Given the description of an element on the screen output the (x, y) to click on. 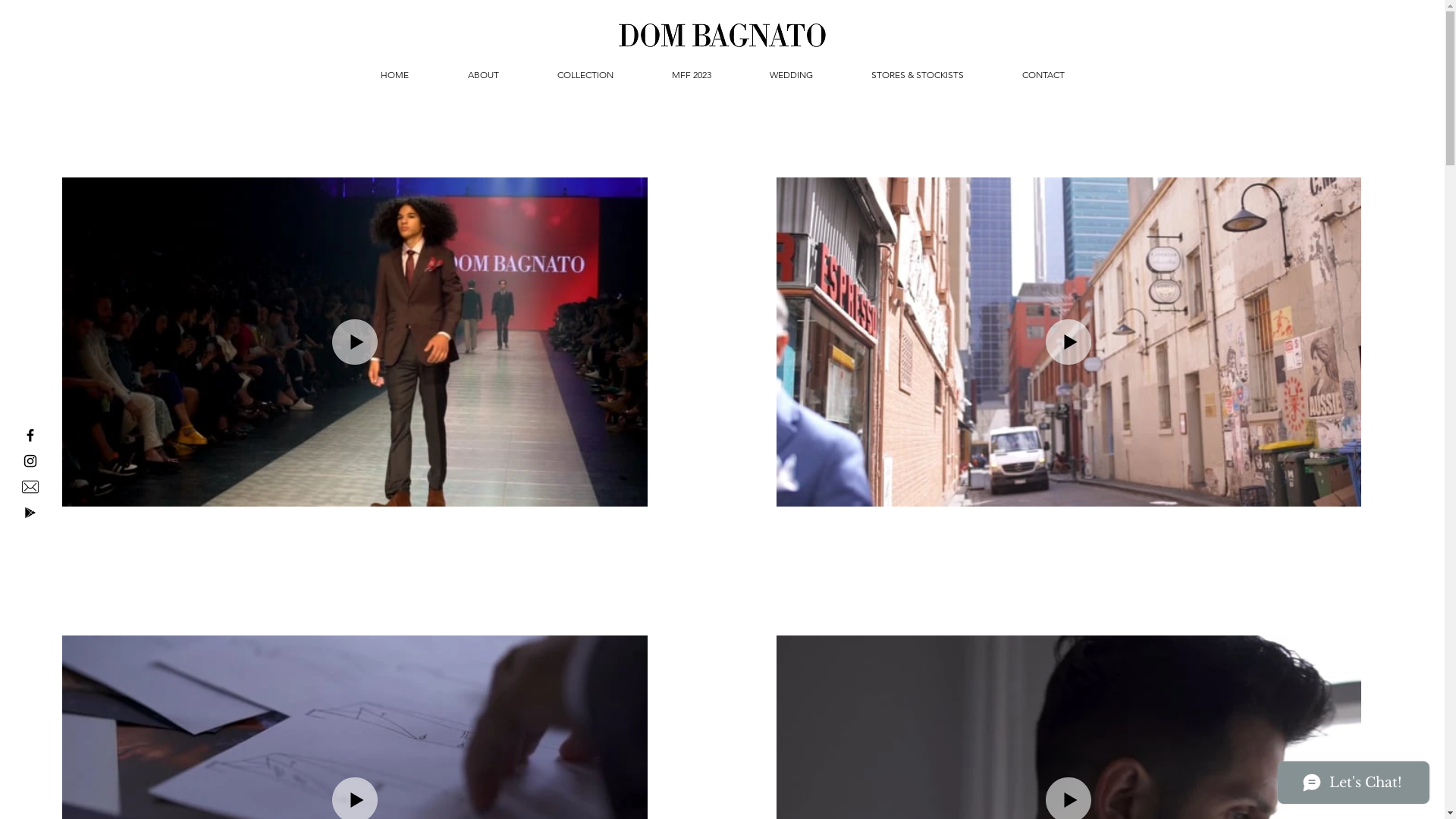
HOME Element type: text (393, 75)
Dom_Logo_ black_FINALApril16.jpg Element type: hover (721, 35)
ABOUT Element type: text (483, 75)
WEDDING Element type: text (790, 75)
CONTACT Element type: text (1043, 75)
MFF 2023 Element type: text (691, 75)
COLLECTION Element type: text (584, 75)
STORES & STOCKISTS Element type: text (916, 75)
